Given the description of an element on the screen output the (x, y) to click on. 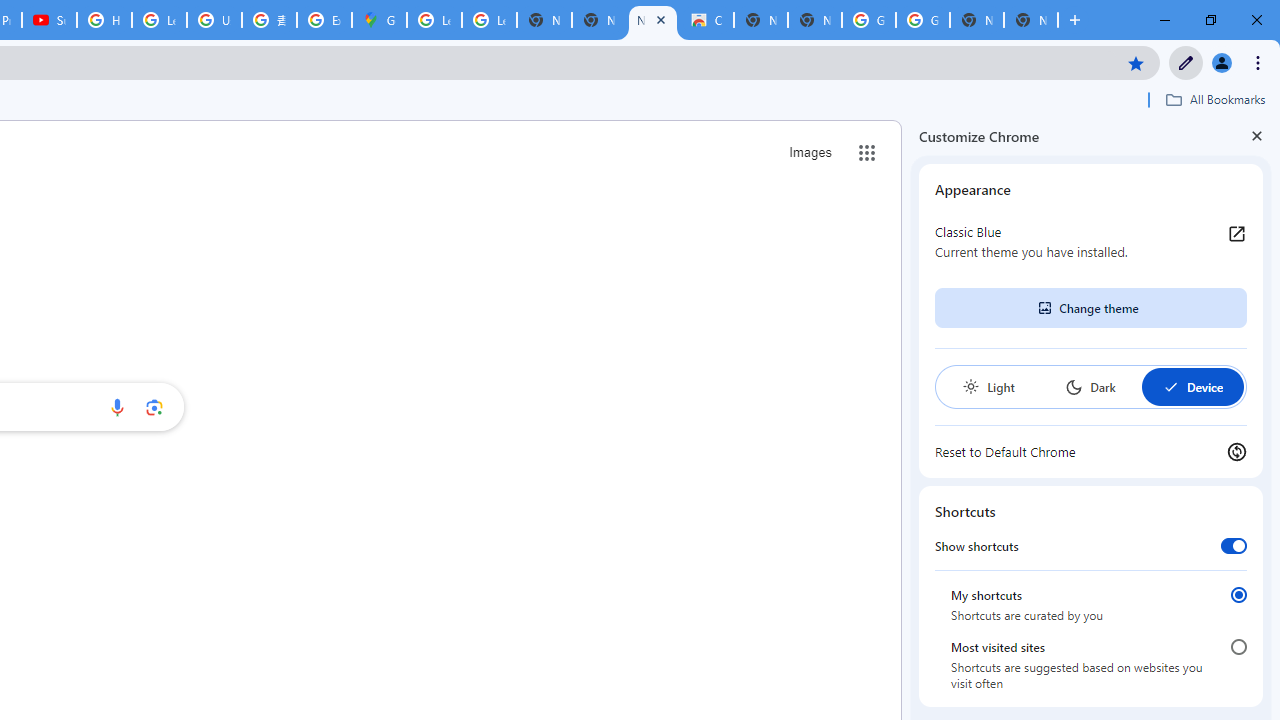
Dark (1090, 386)
AutomationID: baseSvg (1170, 386)
Subscriptions - YouTube (48, 20)
Google Images (868, 20)
Classic Blue Current theme you have installed. (1091, 241)
Explore new street-level details - Google Maps Help (324, 20)
